Given the description of an element on the screen output the (x, y) to click on. 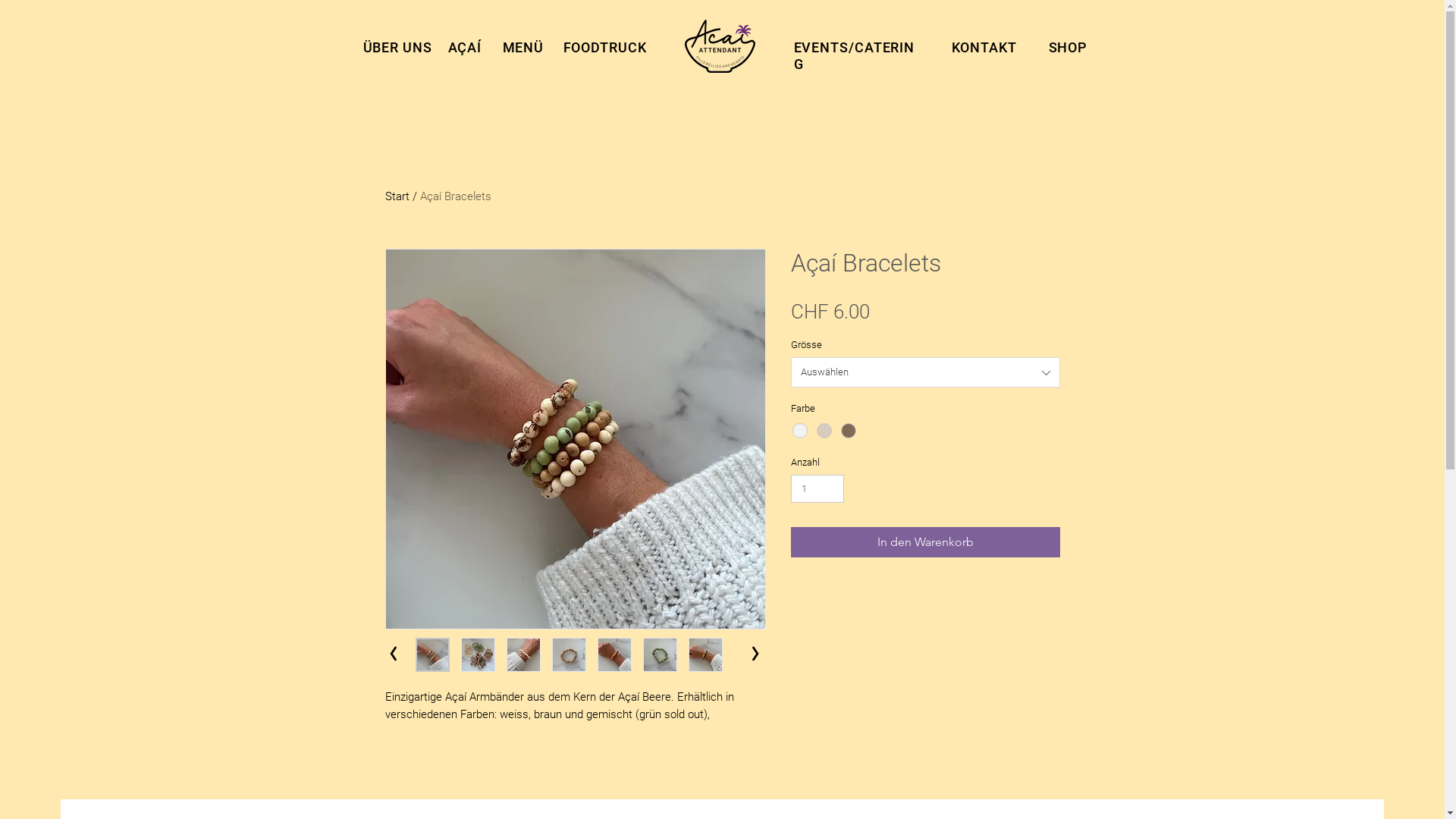
Start Element type: text (397, 196)
Restaurant Social Bar Element type: hover (1416, 316)
EVENTS/CATERING Element type: text (853, 55)
KONTAKT Element type: text (983, 47)
In den Warenkorb Element type: text (924, 542)
FOODTRUCK Element type: text (604, 47)
SHOP Element type: text (1067, 47)
